Given the description of an element on the screen output the (x, y) to click on. 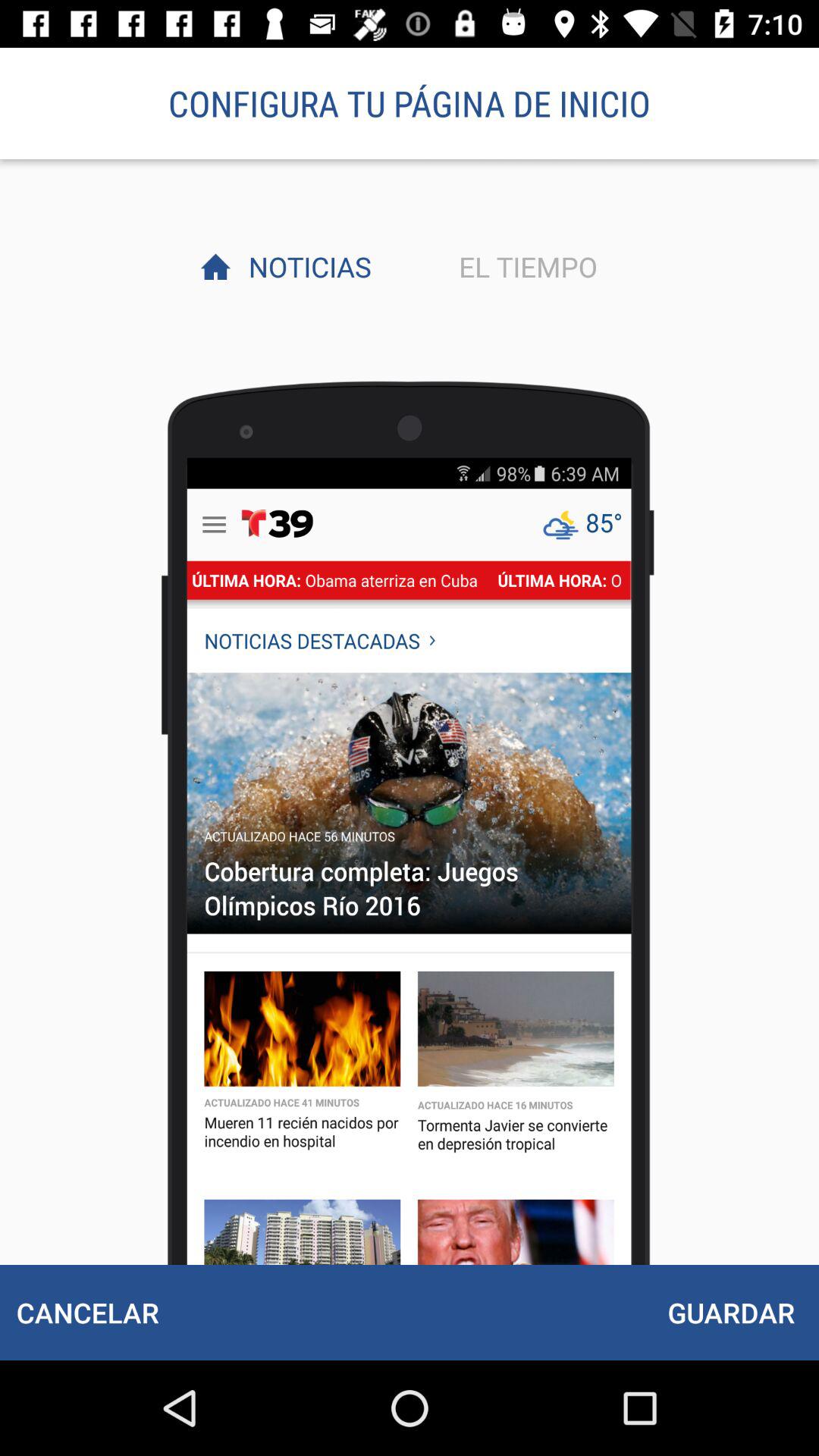
open el tiempo icon (524, 266)
